Given the description of an element on the screen output the (x, y) to click on. 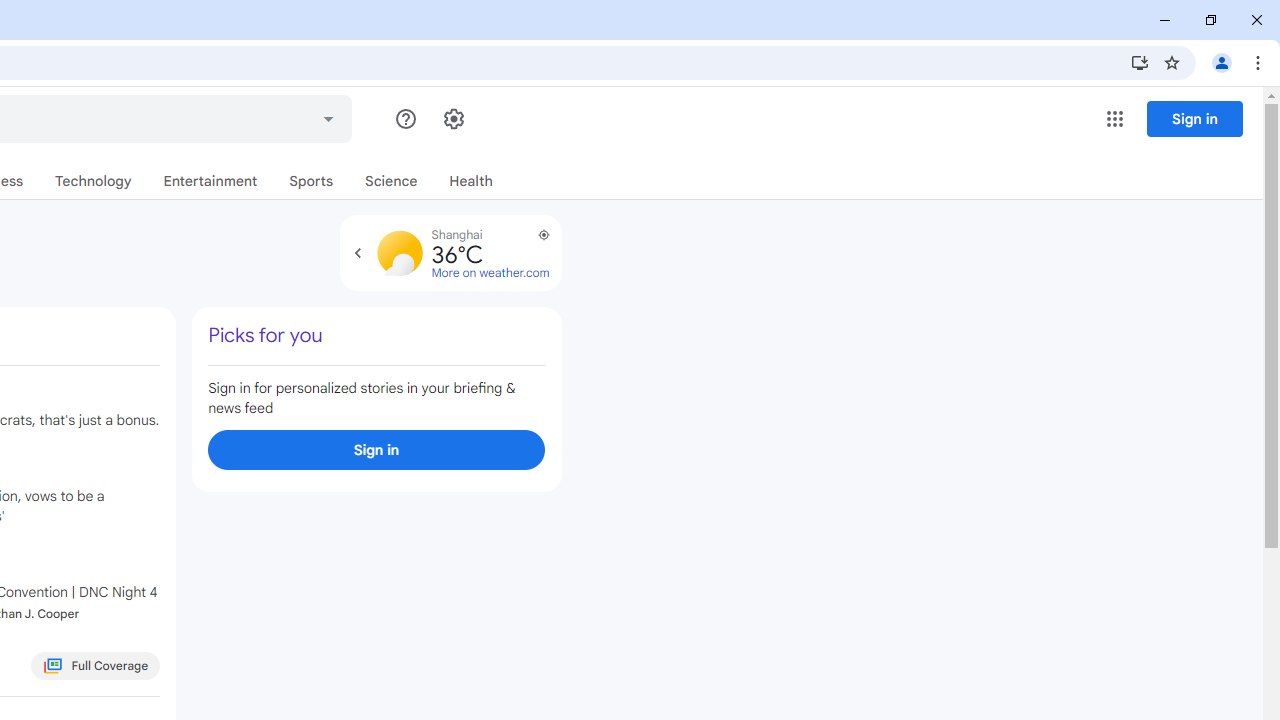
Install Google News (1139, 62)
